Given the description of an element on the screen output the (x, y) to click on. 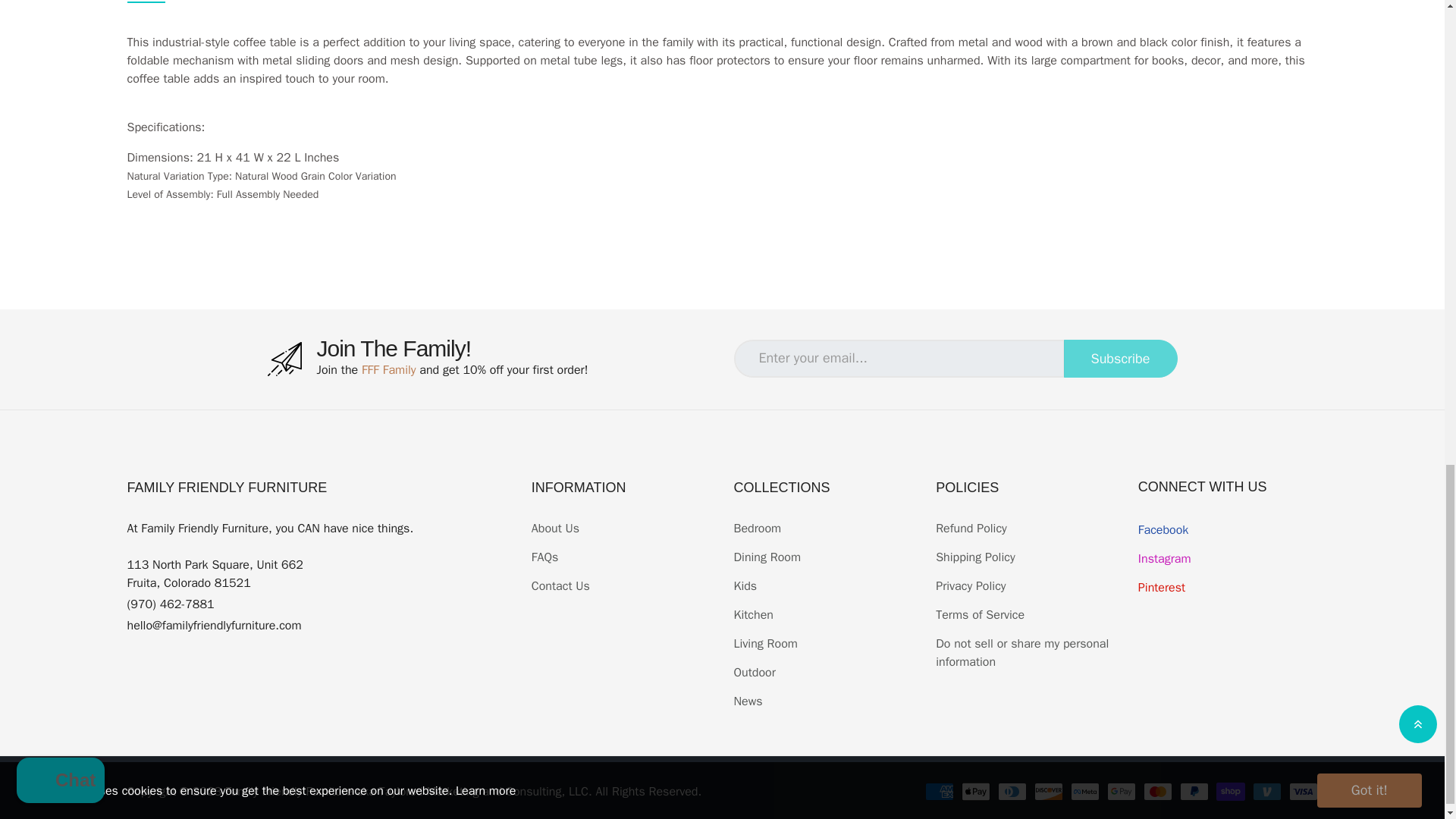
Diners Club (1011, 791)
American Express (938, 791)
Discover (1047, 791)
Apple Pay (975, 791)
